Given the description of an element on the screen output the (x, y) to click on. 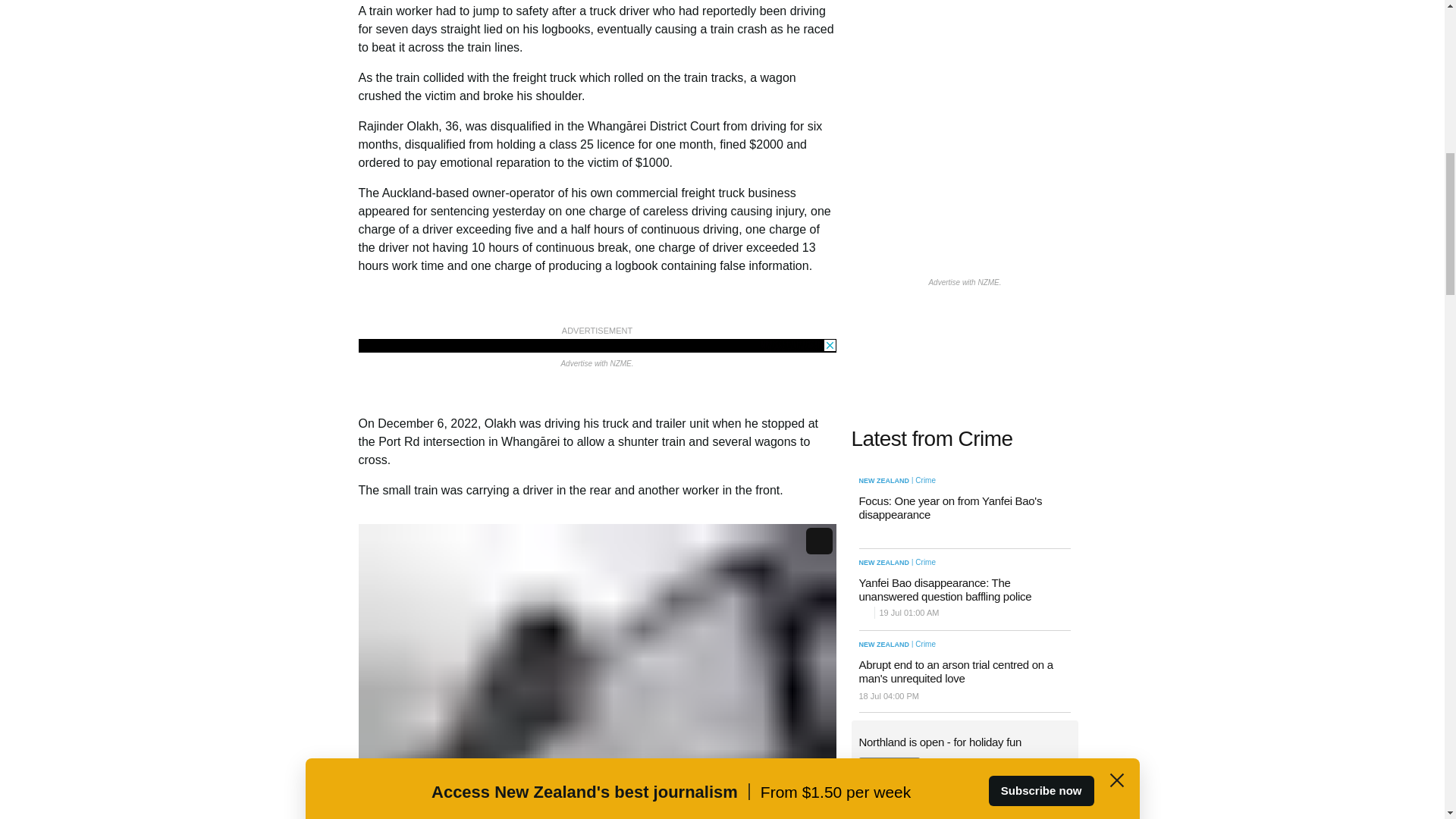
3rd party ad content (596, 345)
3rd party ad content (964, 817)
